Given the description of an element on the screen output the (x, y) to click on. 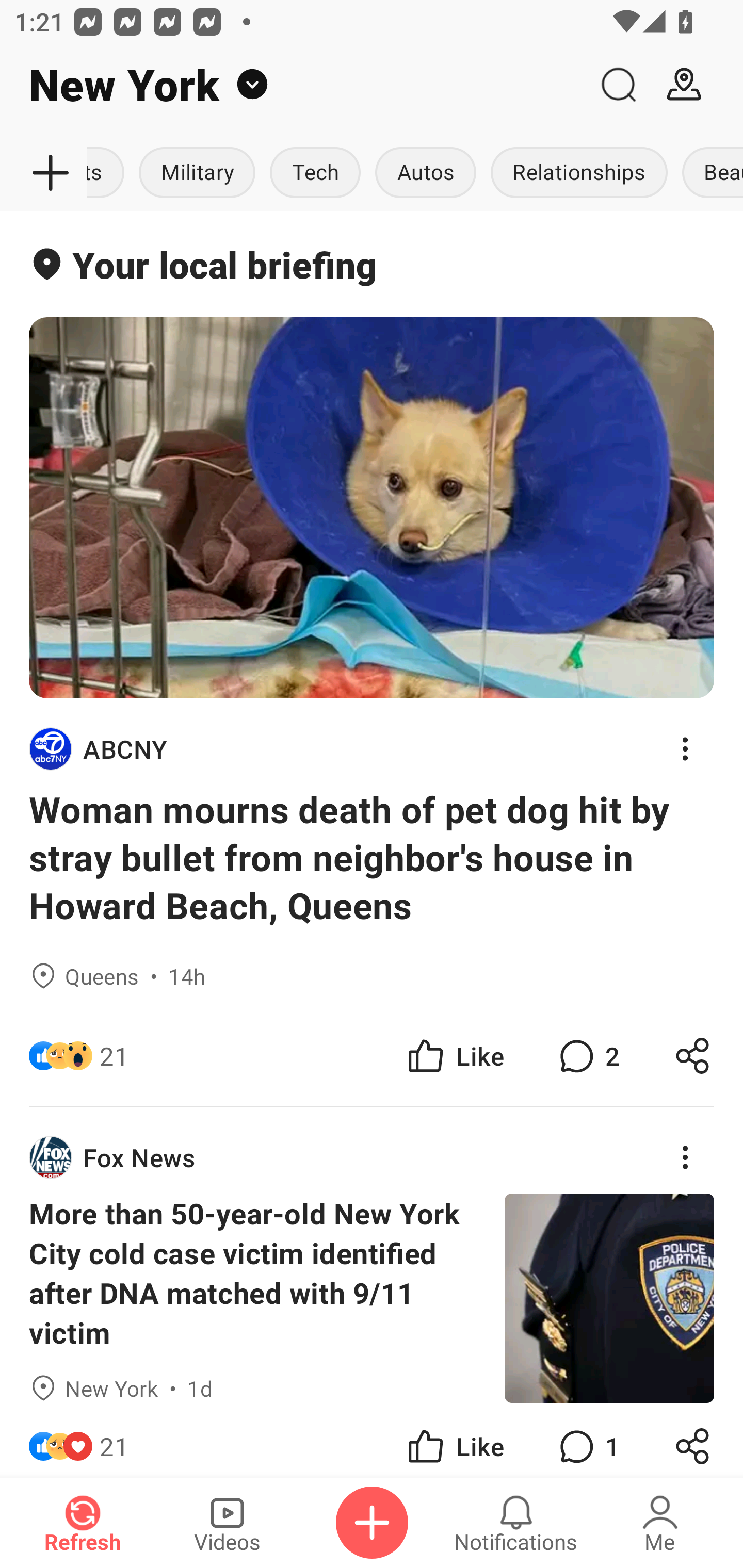
New York (292, 84)
Military (196, 172)
Tech (314, 172)
Autos (425, 172)
Relationships (578, 172)
Beauty (708, 172)
21 (114, 1055)
Like (454, 1055)
2 (587, 1055)
21 (114, 1440)
Like (454, 1440)
1 (587, 1440)
Videos (227, 1522)
Notifications (516, 1522)
Me (659, 1522)
